Given the description of an element on the screen output the (x, y) to click on. 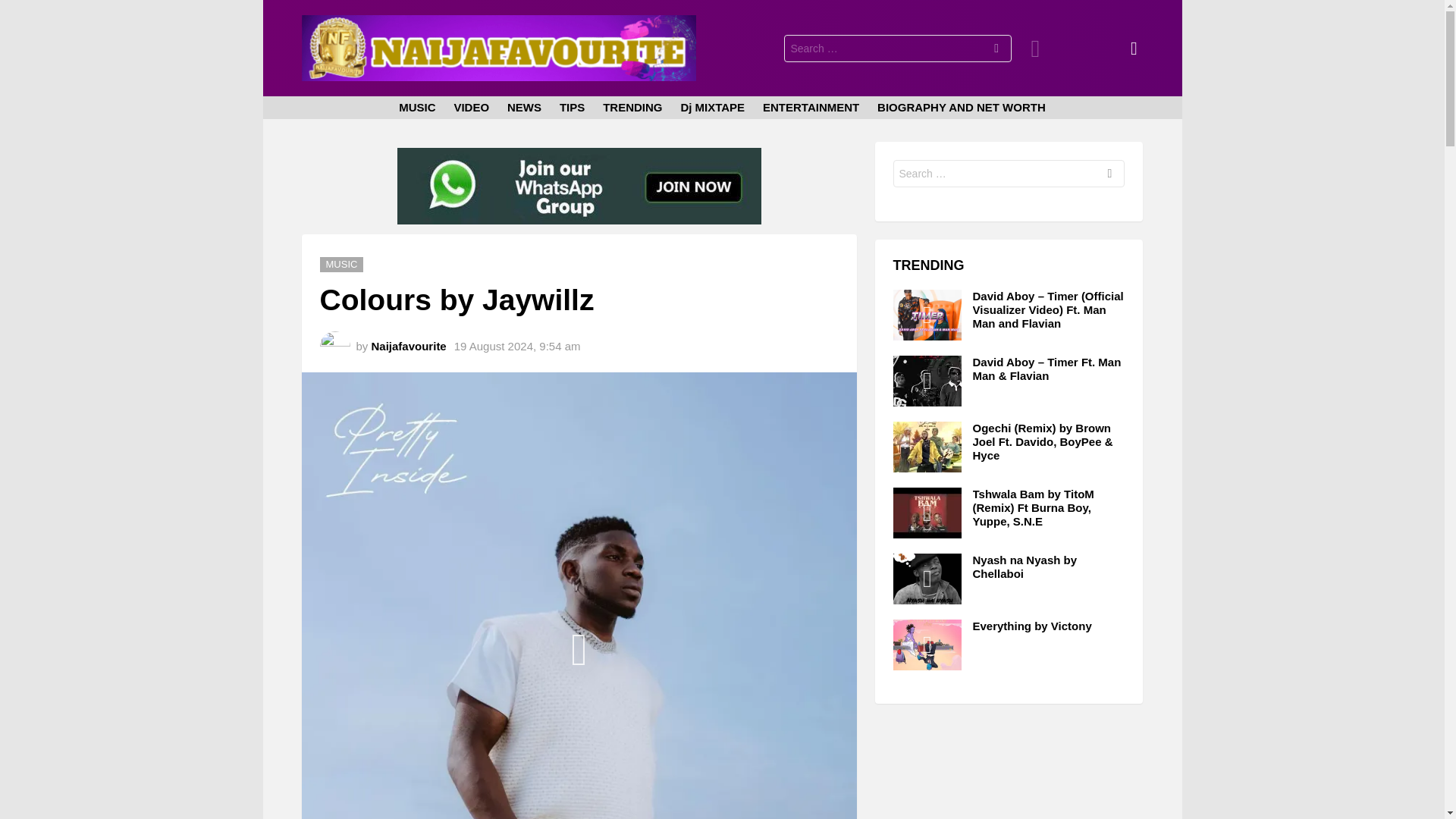
ENTERTAINMENT (810, 107)
WhatsApp (579, 220)
Posts by Naijafavourite (408, 345)
Search (996, 50)
MUSIC (416, 107)
Dj MIXTAPE (712, 107)
NEWS (523, 107)
TRENDING (632, 107)
Search for: (897, 48)
MUSIC (342, 264)
